Given the description of an element on the screen output the (x, y) to click on. 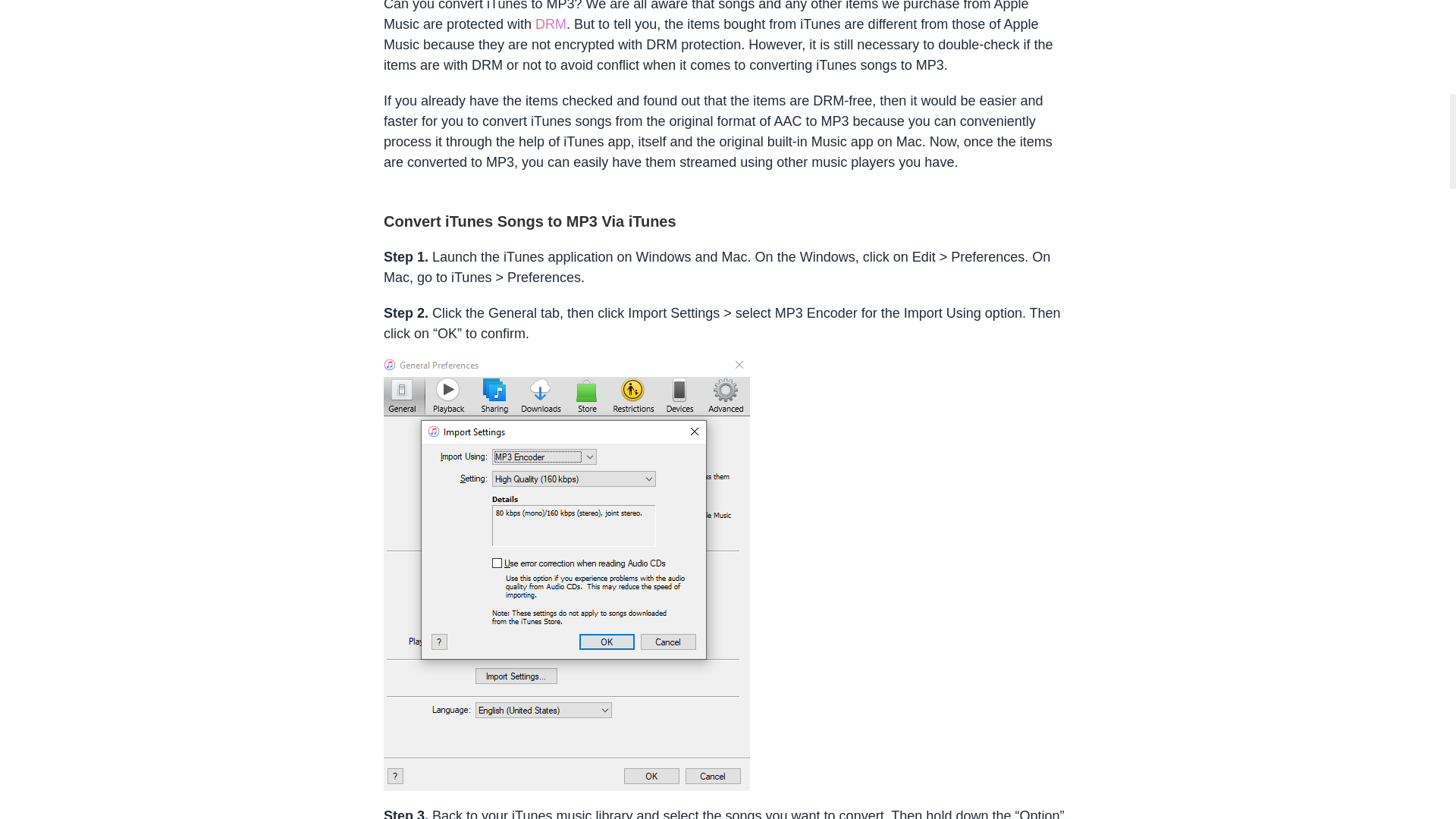
OTT Explains : What Is DRM? (550, 23)
DRM (550, 23)
